Given the description of an element on the screen output the (x, y) to click on. 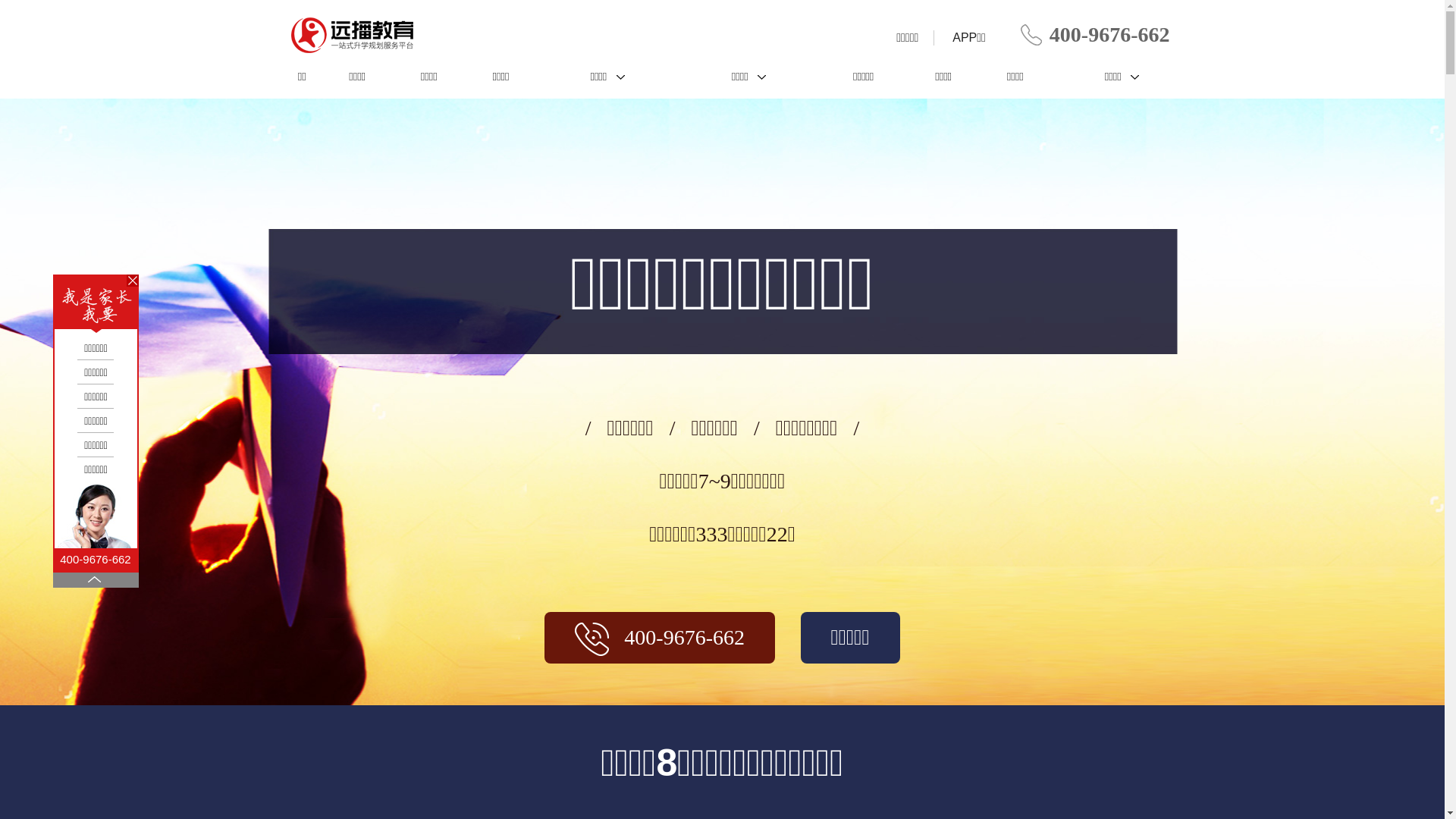
400-9676-662 Element type: text (95, 526)
400-9676-662 Element type: text (659, 637)
